Given the description of an element on the screen output the (x, y) to click on. 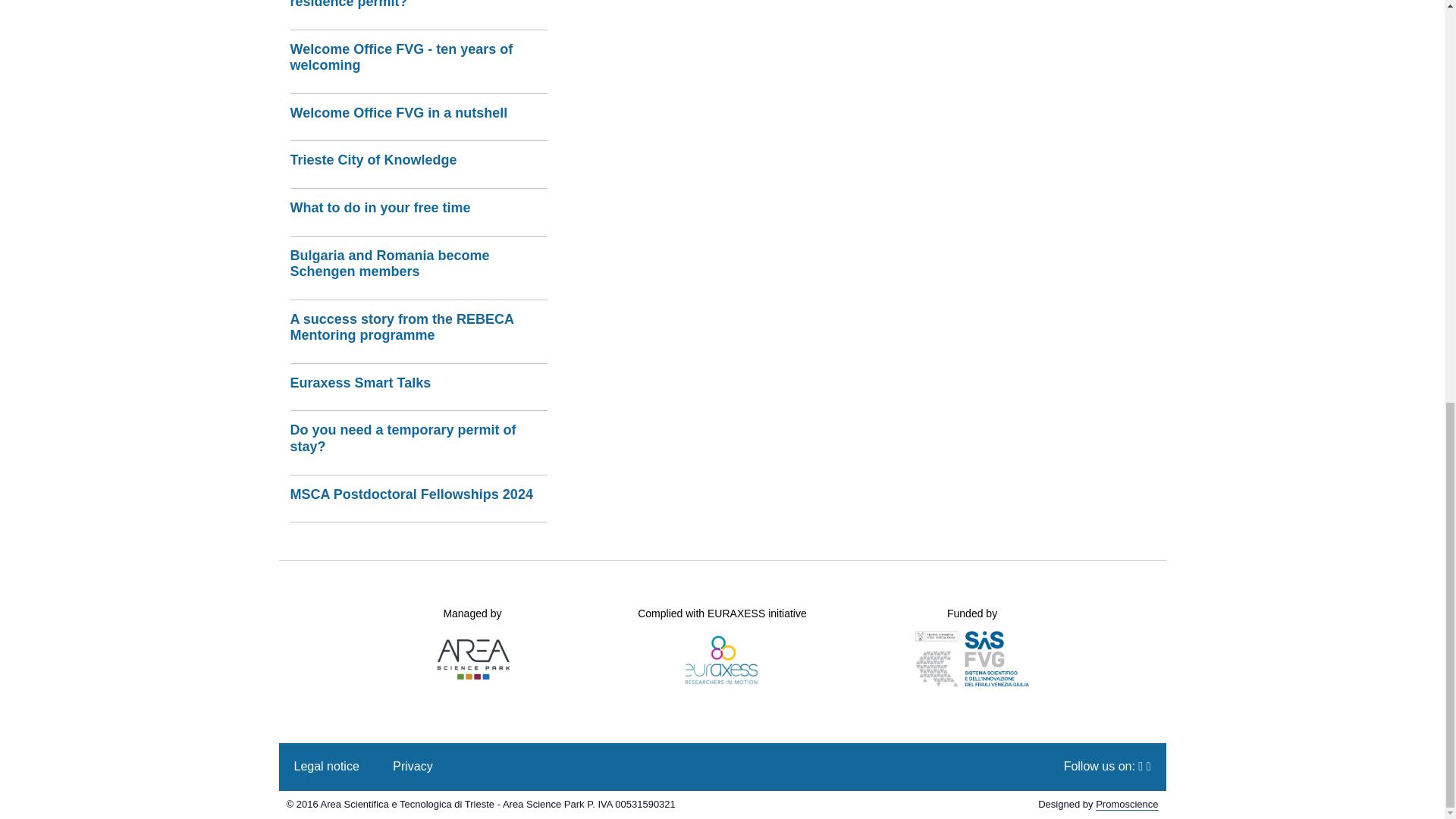
Trieste City of Knowledge (418, 160)
A success story from the REBECA Mentoring programme (418, 327)
Facebook (1141, 766)
What to do in your free time (418, 208)
Just arrived? Do you need to apply for residence permit? (418, 4)
Welcome Office FVG in a nutshell (418, 113)
Bulgaria and Romania become Schengen members (418, 263)
Welcome Office FVG - ten years of welcoming (418, 57)
YouTube (1149, 766)
